Given the description of an element on the screen output the (x, y) to click on. 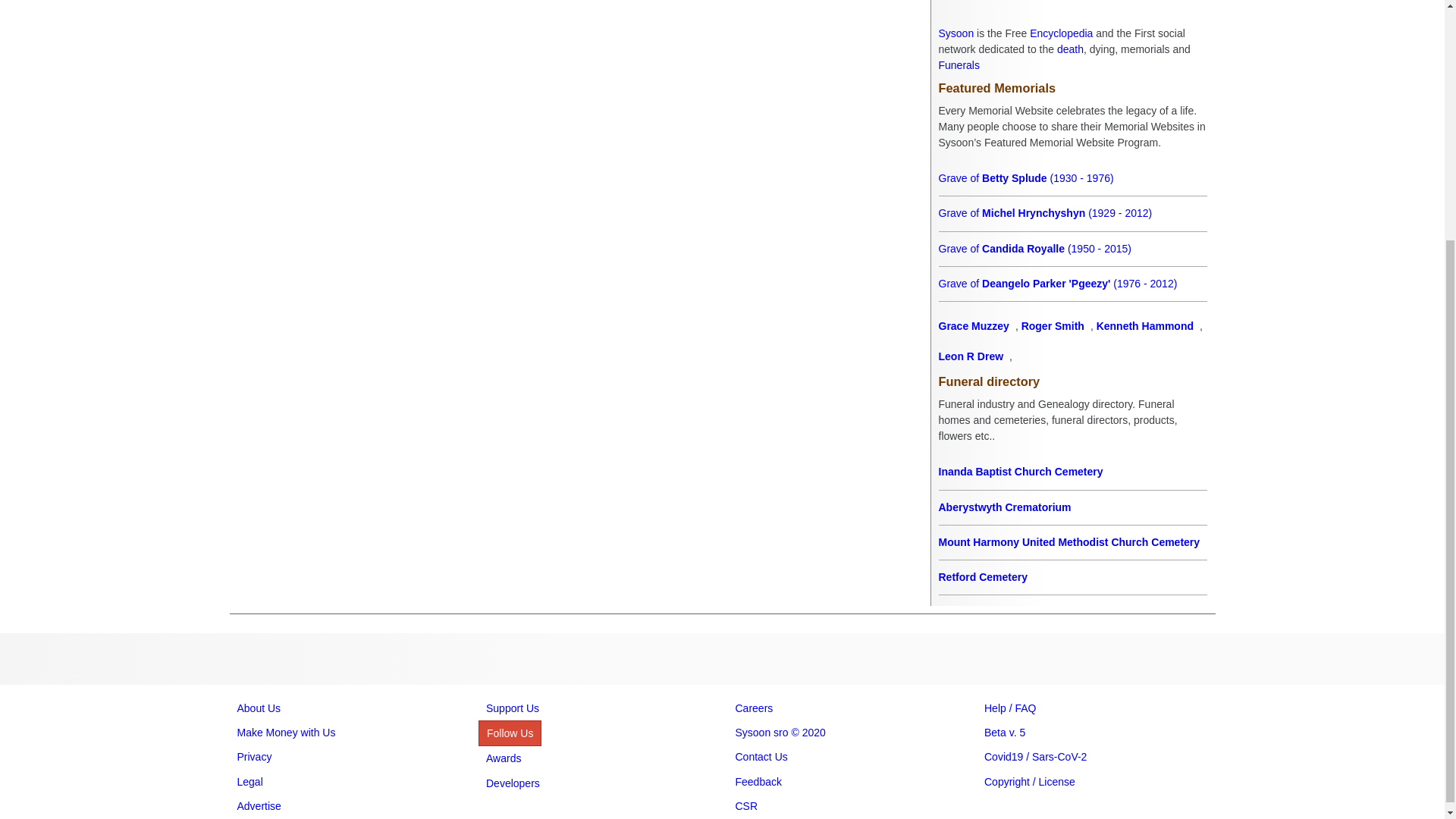
 Michel Hrynchyshyn (1073, 213)
Inanda Baptist Church Cemetery (1073, 471)
Sysoon (956, 33)
Featured Memorials (1073, 87)
Deangelo Parker 'Pgeezy' (1073, 283)
Funerals (959, 64)
Encyclopedia (1061, 33)
Candida Royalle (1073, 248)
Betty Splude (1073, 178)
death (1070, 49)
